Given the description of an element on the screen output the (x, y) to click on. 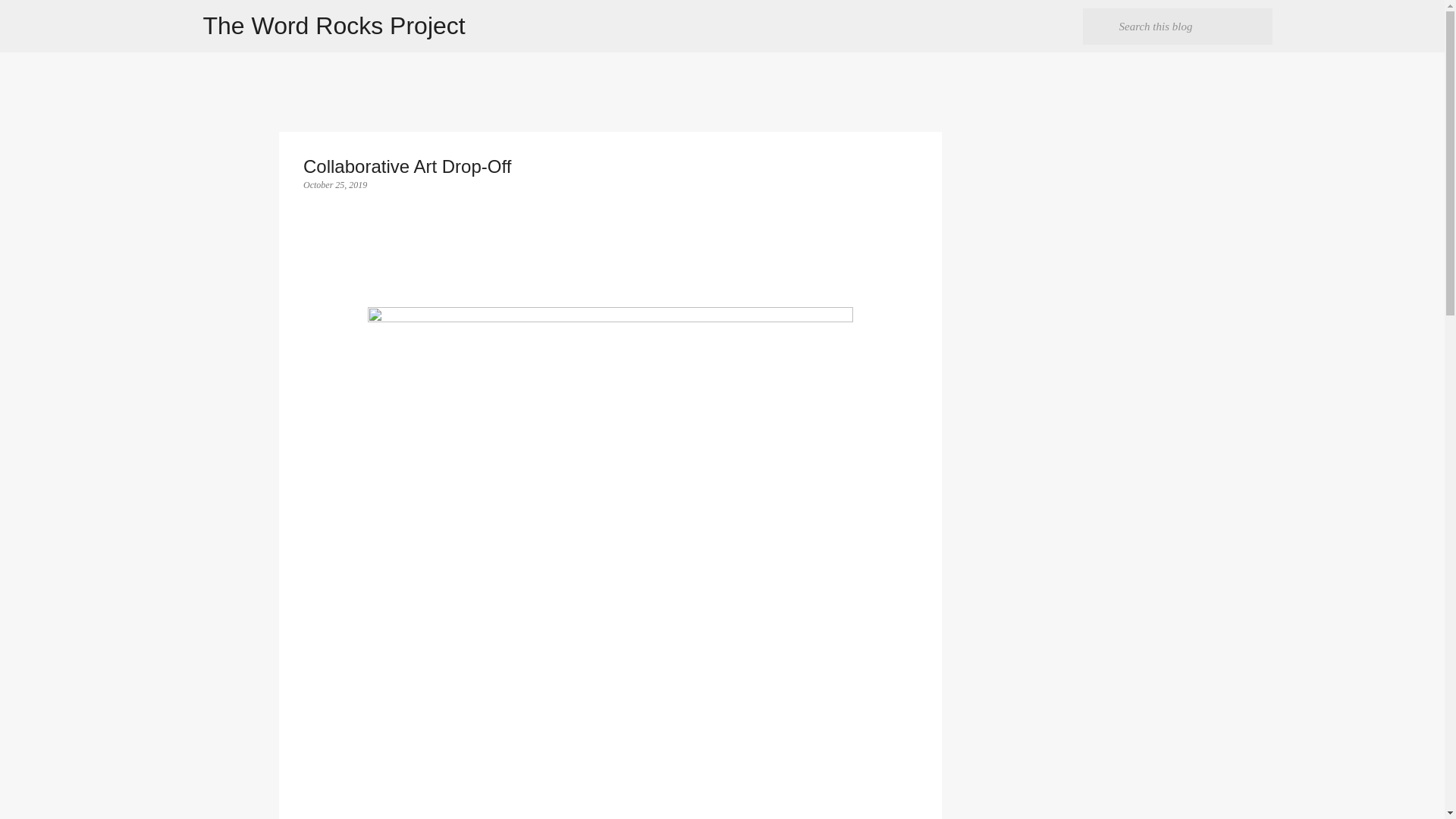
permanent link (334, 184)
The Word Rocks Project (334, 25)
October 25, 2019 (334, 184)
